Given the description of an element on the screen output the (x, y) to click on. 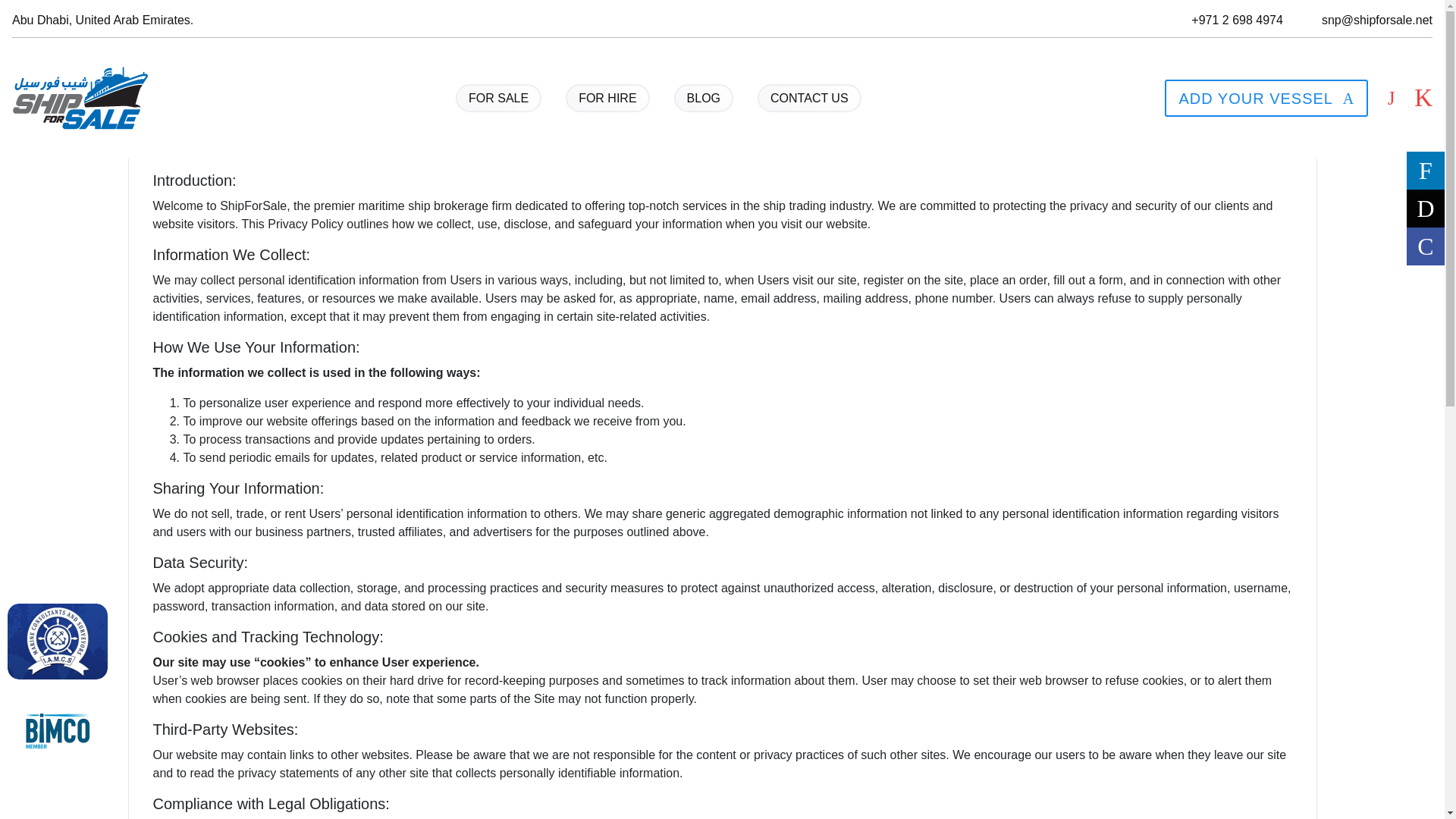
ADD YOUR VESSEL (1266, 98)
BLOG (703, 98)
FOR SALE (498, 98)
CONTACT US (809, 98)
FOR HIRE (607, 98)
